Given the description of an element on the screen output the (x, y) to click on. 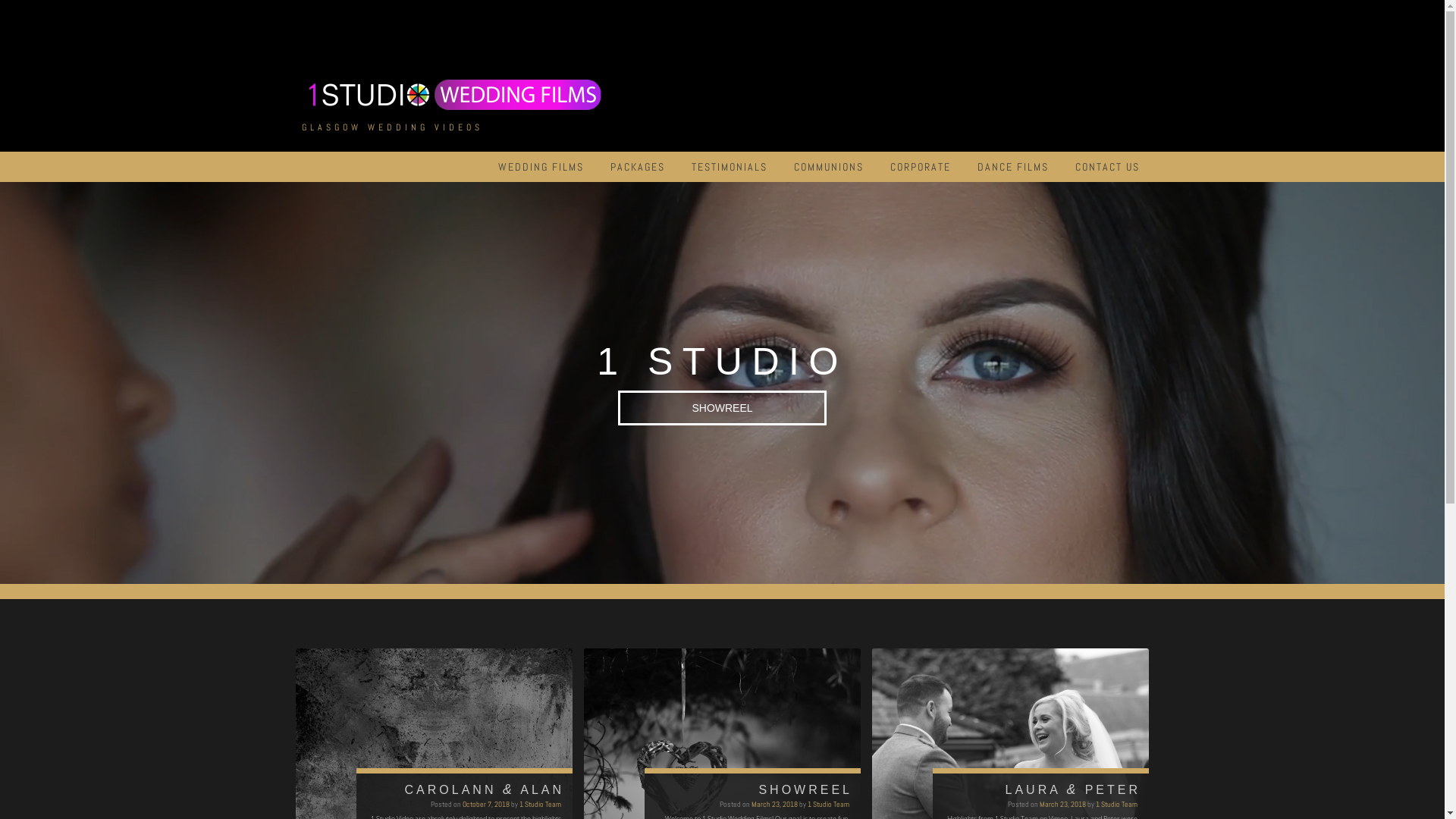
CORPORATE Element type: text (920, 166)
COMMUNIONS Element type: text (827, 166)
1 Studio Team Element type: text (828, 804)
TESTIMONIALS Element type: text (729, 166)
SHOWREEL Element type: text (722, 406)
WEDDING FILMS Element type: text (540, 166)
March 23, 2018 Element type: text (1062, 804)
SHOWREEL Element type: text (722, 406)
PACKAGES Element type: text (636, 166)
October 7, 2018 Element type: text (485, 804)
March 23, 2018 Element type: text (774, 804)
1 Studio Team Element type: text (1116, 804)
1 Studio Team Element type: text (540, 804)
CONTACT US Element type: text (1107, 166)
DANCE FILMS Element type: text (1012, 166)
